Given the description of an element on the screen output the (x, y) to click on. 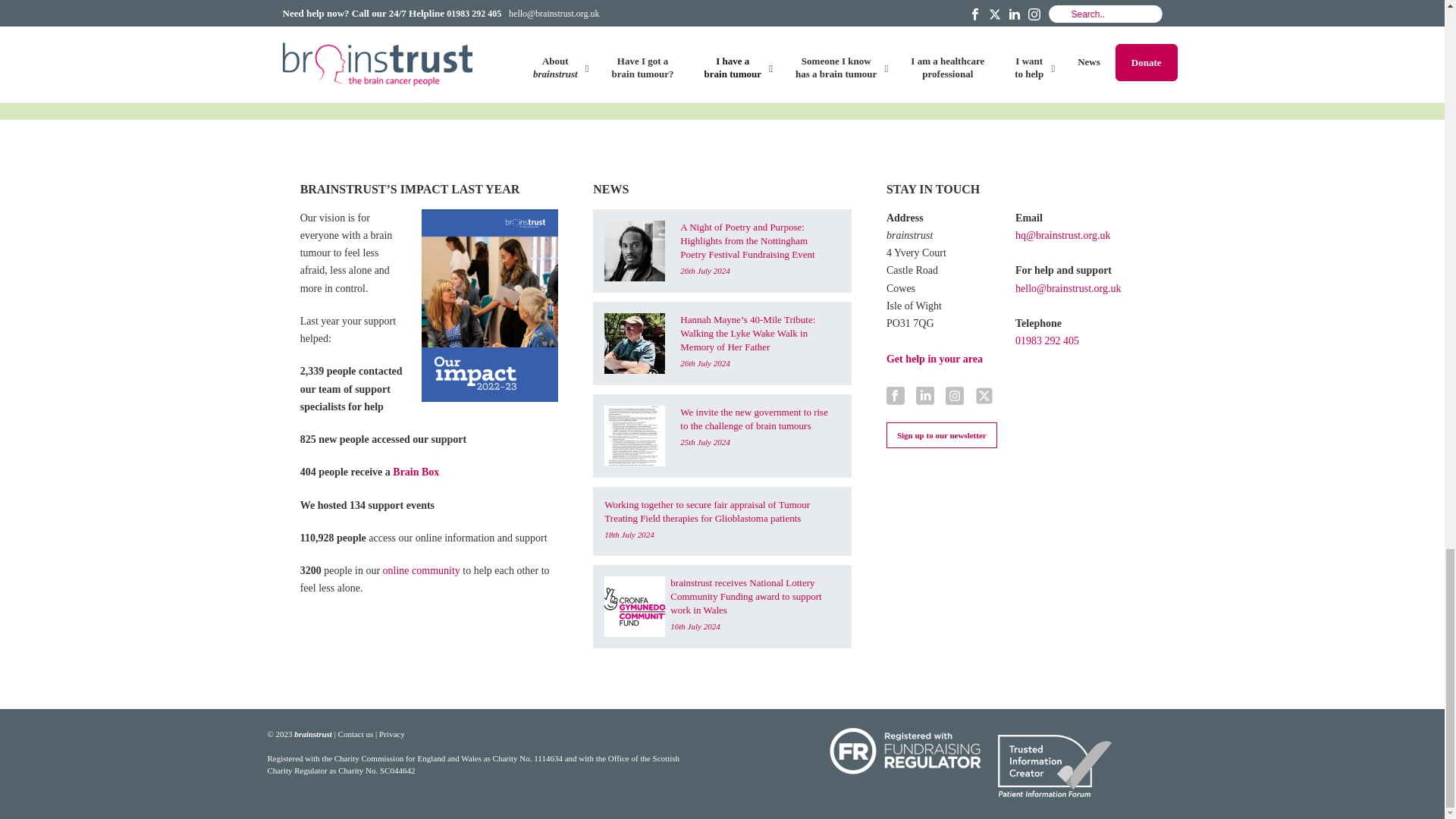
Follow Us on instagram (953, 396)
